Given the description of an element on the screen output the (x, y) to click on. 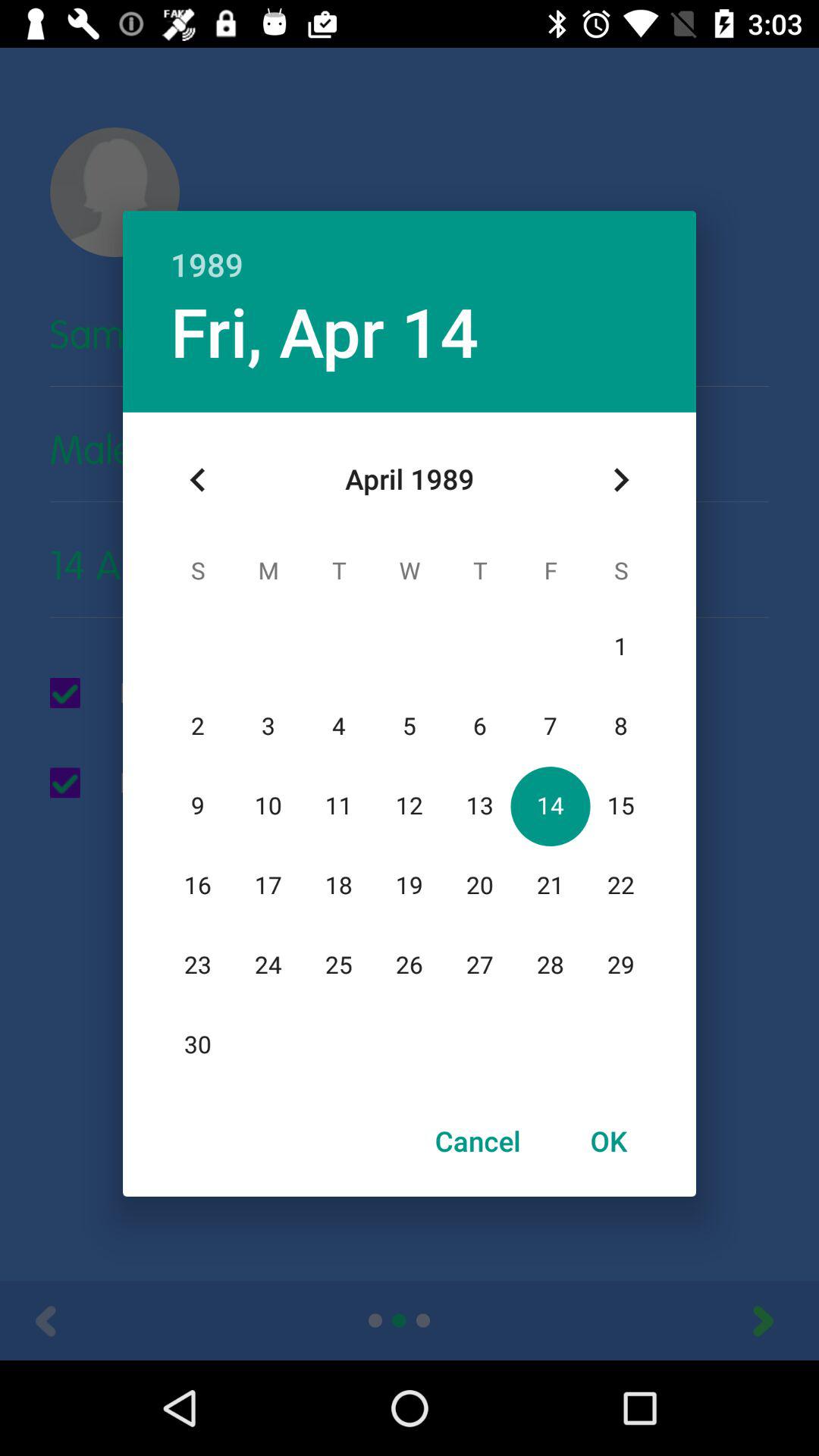
scroll to the ok icon (608, 1140)
